Given the description of an element on the screen output the (x, y) to click on. 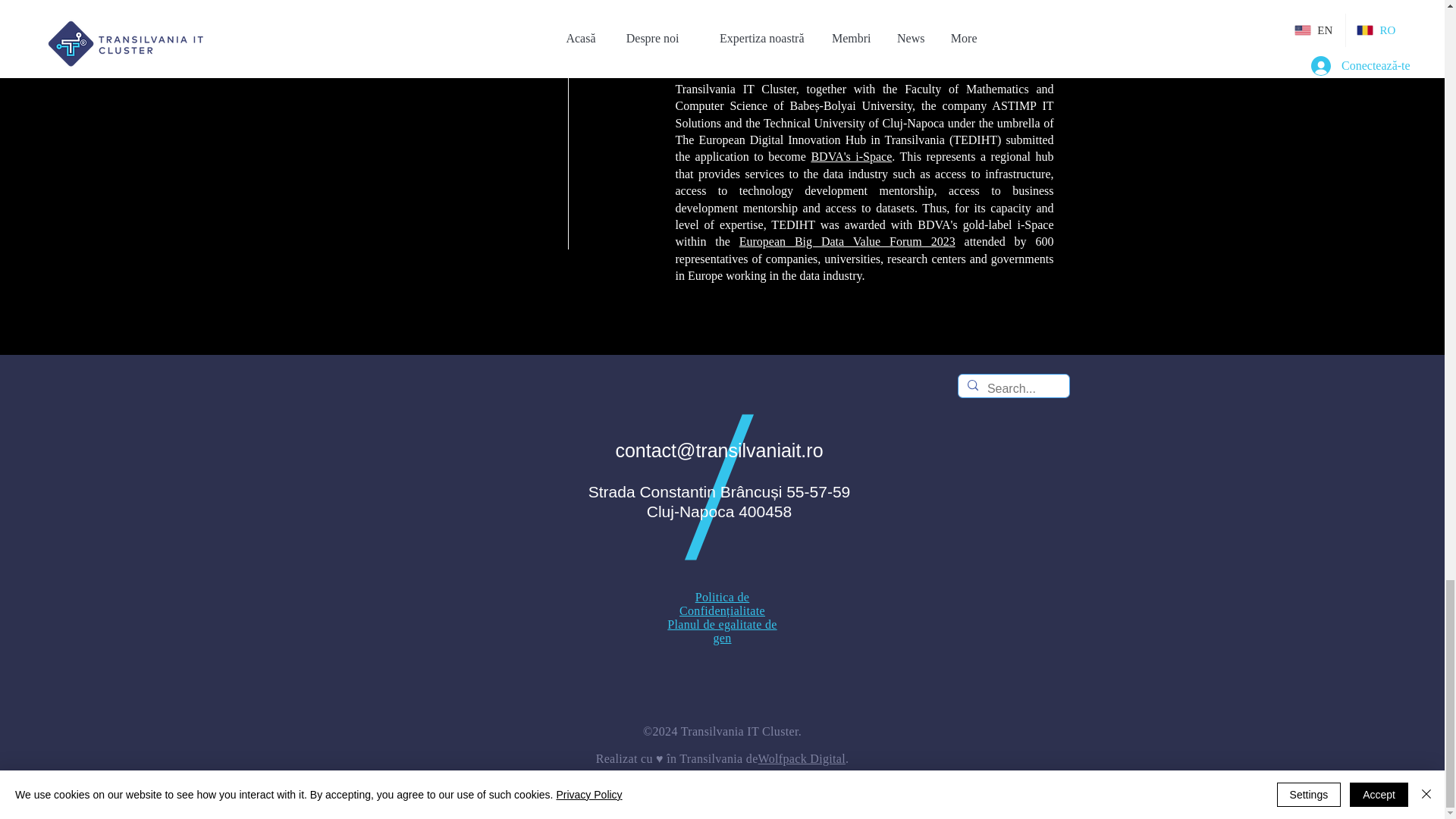
European Big Data Value Forum 2023 (847, 241)
BDVA's i-Space (850, 155)
European Data Spaces (958, 20)
